Given the description of an element on the screen output the (x, y) to click on. 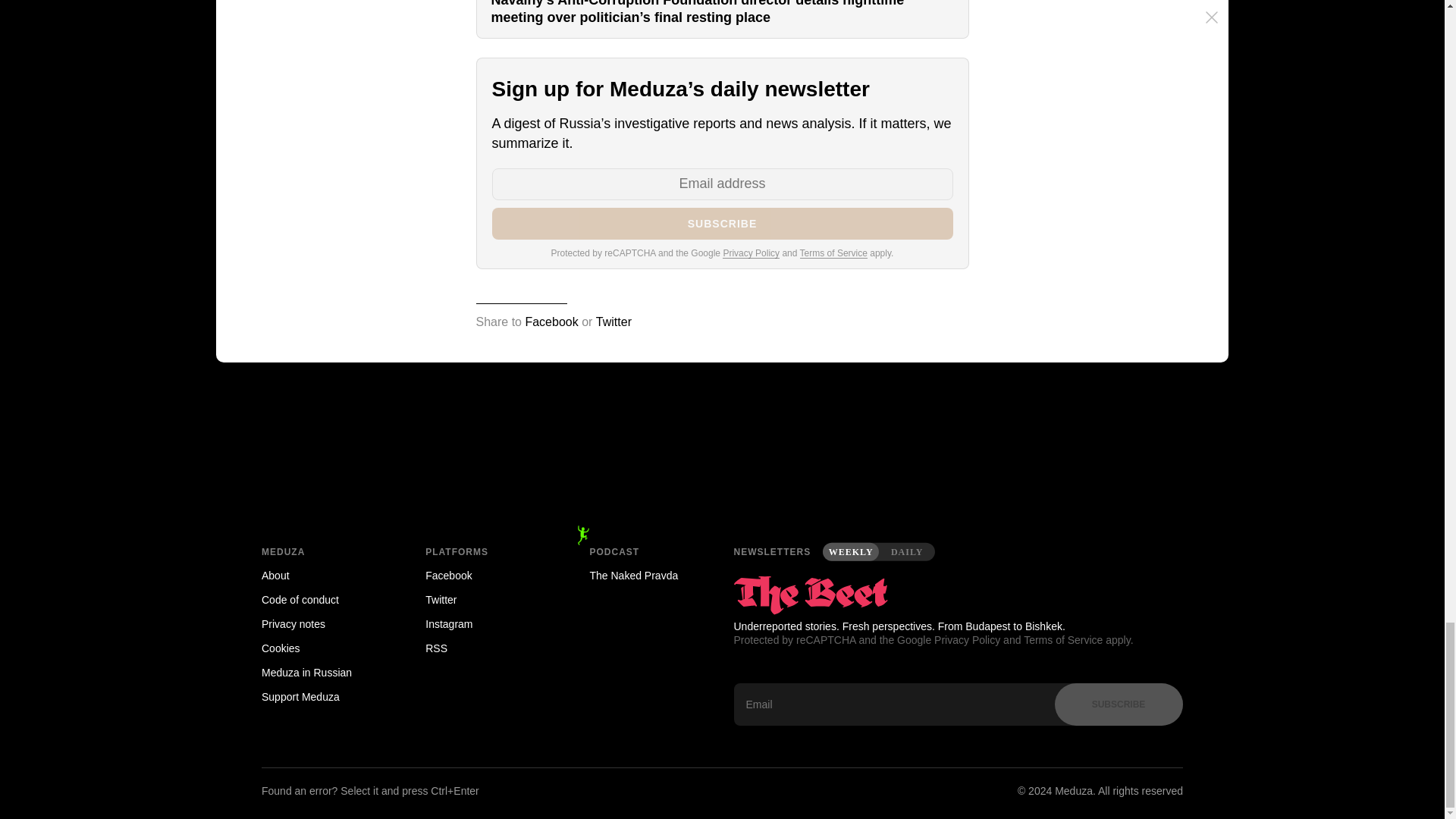
Terms of Service (833, 253)
Privacy Policy (750, 253)
Twitter (613, 322)
Facebook (486, 575)
Cookies (322, 648)
Instagram (486, 623)
SUBSCRIBE (722, 223)
Code of conduct (322, 599)
Meduza in Russian (322, 672)
Facebook (551, 322)
Privacy notes (322, 623)
Support Meduza (322, 696)
About (322, 575)
Twitter (486, 599)
